Given the description of an element on the screen output the (x, y) to click on. 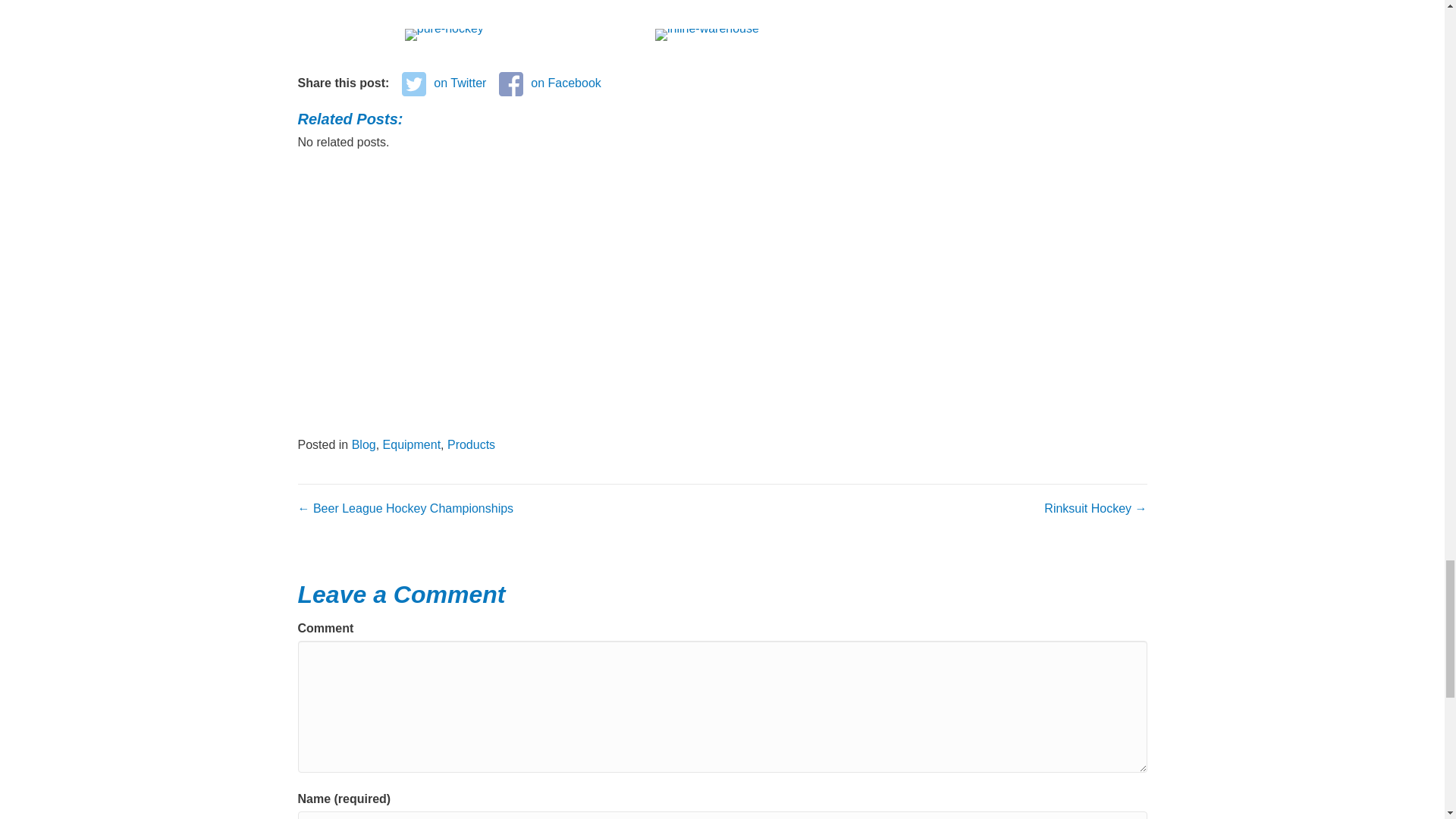
pure-hockey (443, 34)
